Given the description of an element on the screen output the (x, y) to click on. 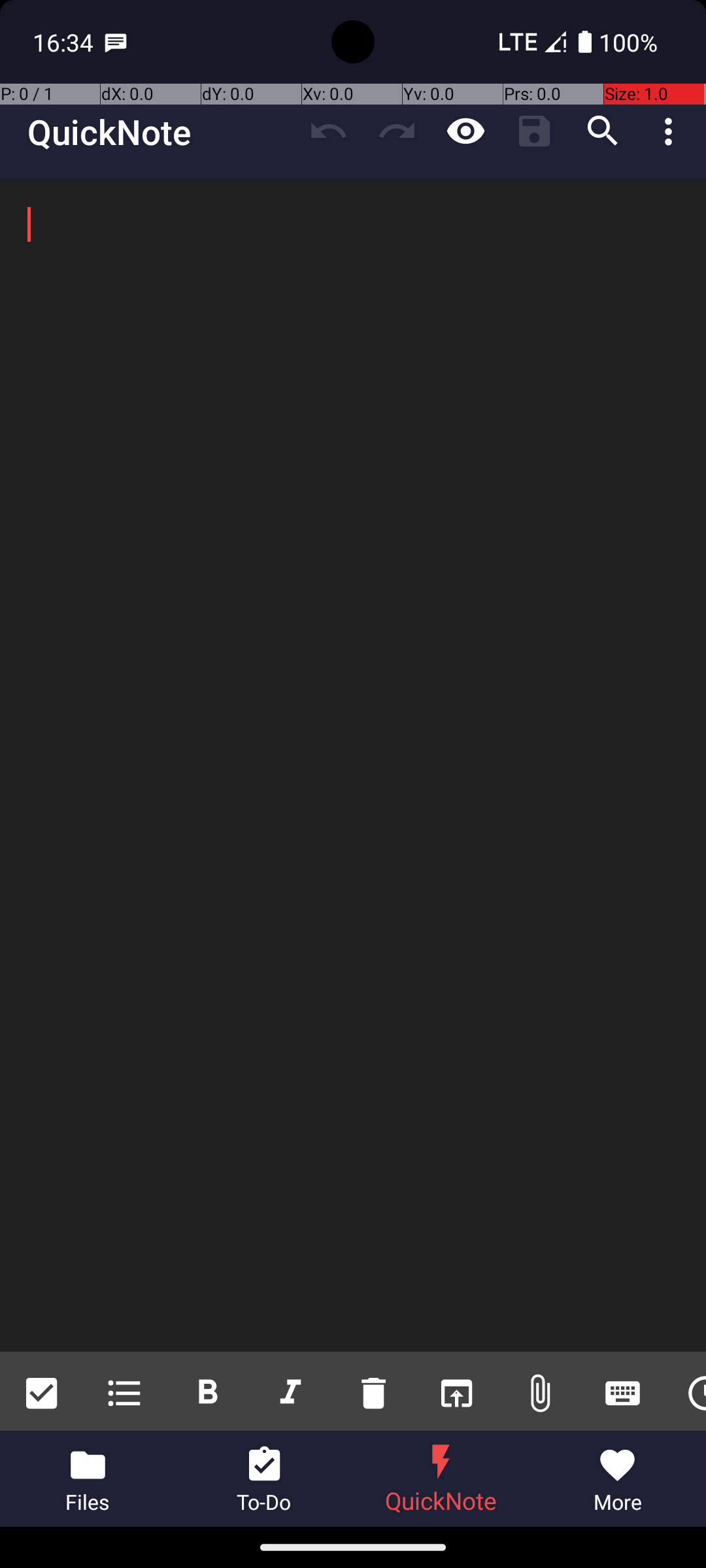
16:34 Element type: android.widget.TextView (64, 41)
